Given the description of an element on the screen output the (x, y) to click on. 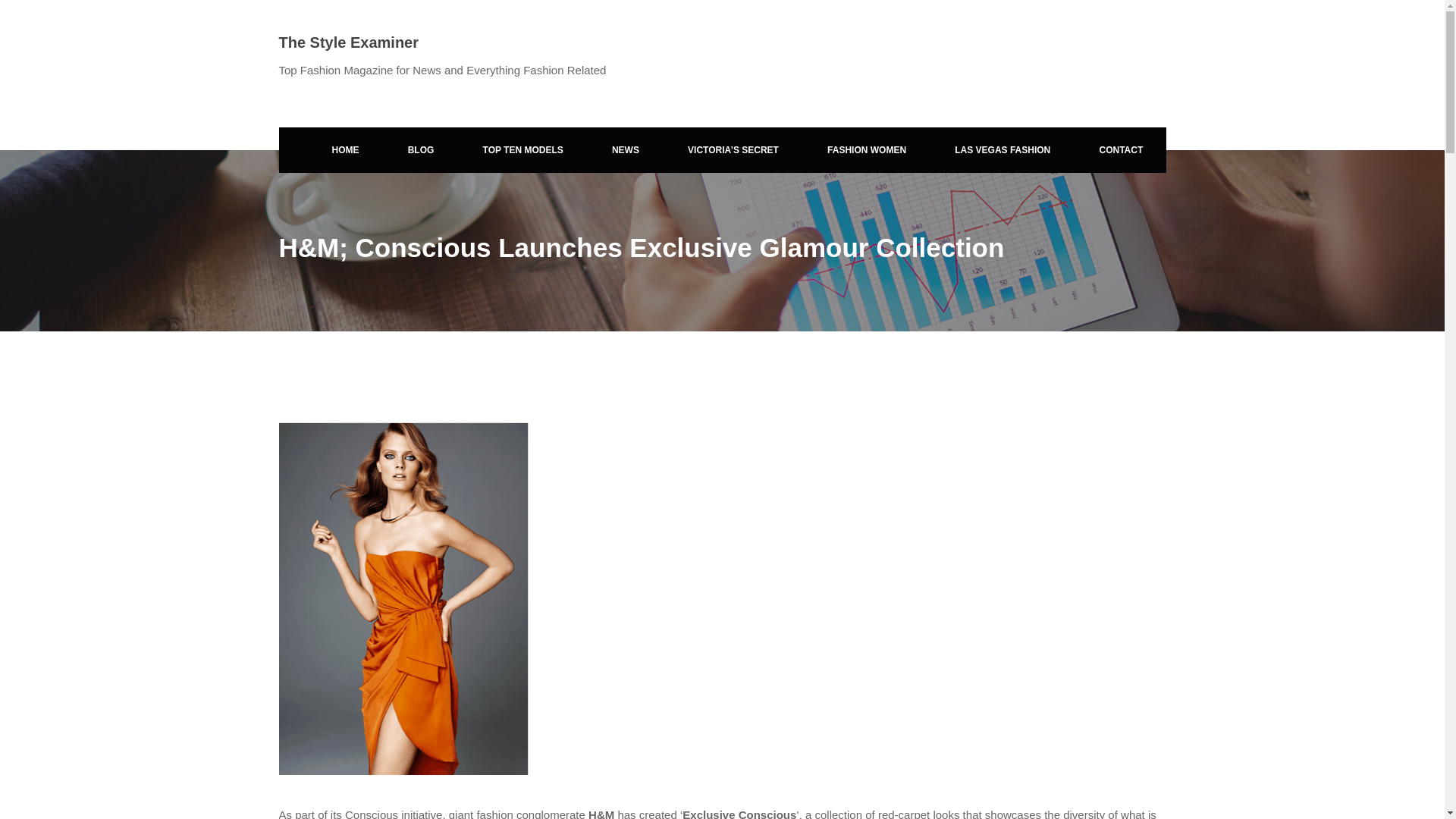
HOME (344, 149)
FASHION WOMEN (866, 149)
The Style Examiner (349, 42)
NEWS (625, 149)
BLOG (421, 149)
CONTACT (1120, 149)
LAS VEGAS FASHION (1002, 149)
TOP TEN MODELS (523, 149)
